Given the description of an element on the screen output the (x, y) to click on. 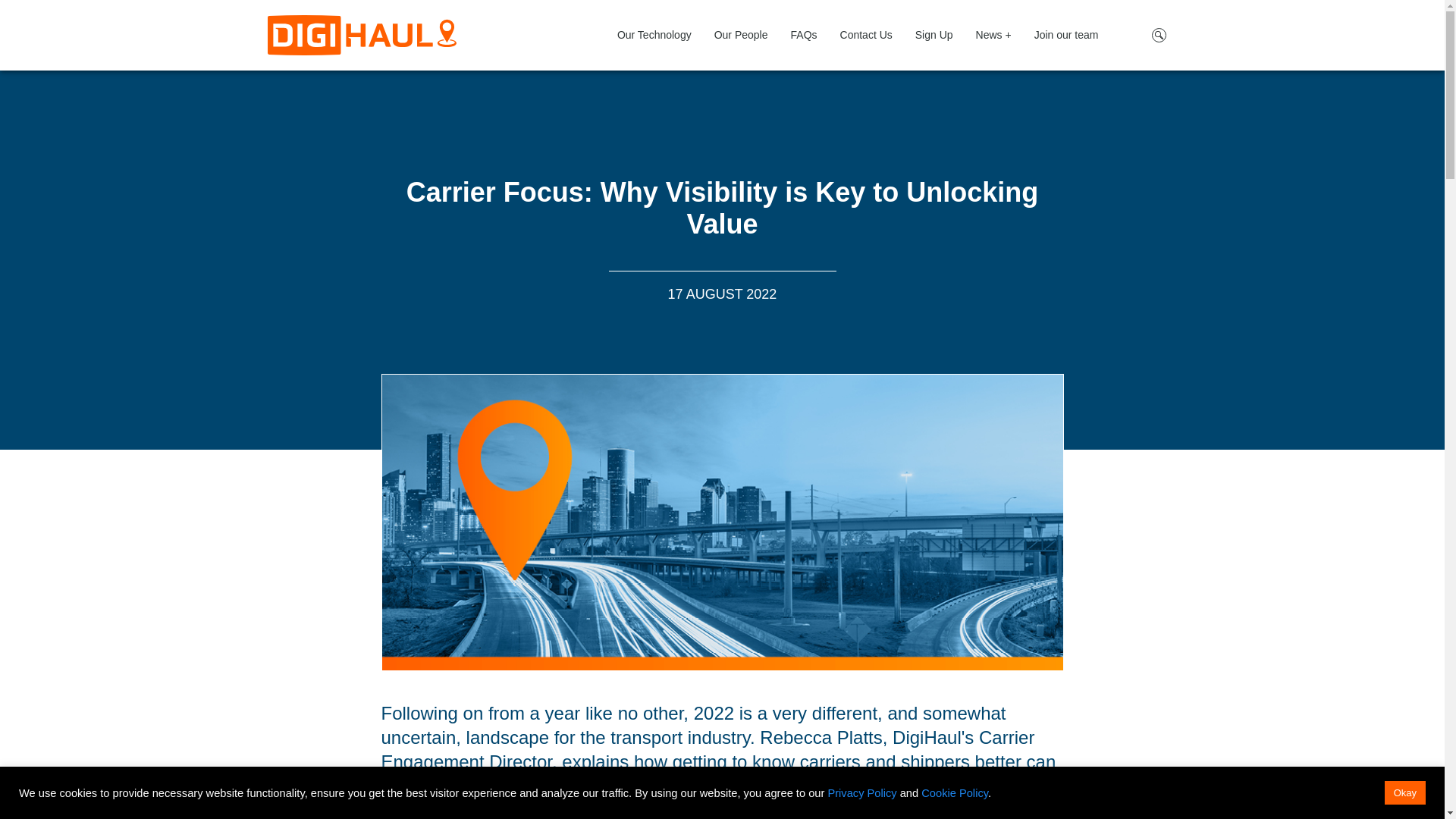
DigiHaul (360, 35)
Our Technology (654, 34)
Join our team (1066, 34)
Contact Us (866, 34)
Our People (740, 34)
Sign Up (933, 34)
FAQs (803, 34)
